Given the description of an element on the screen output the (x, y) to click on. 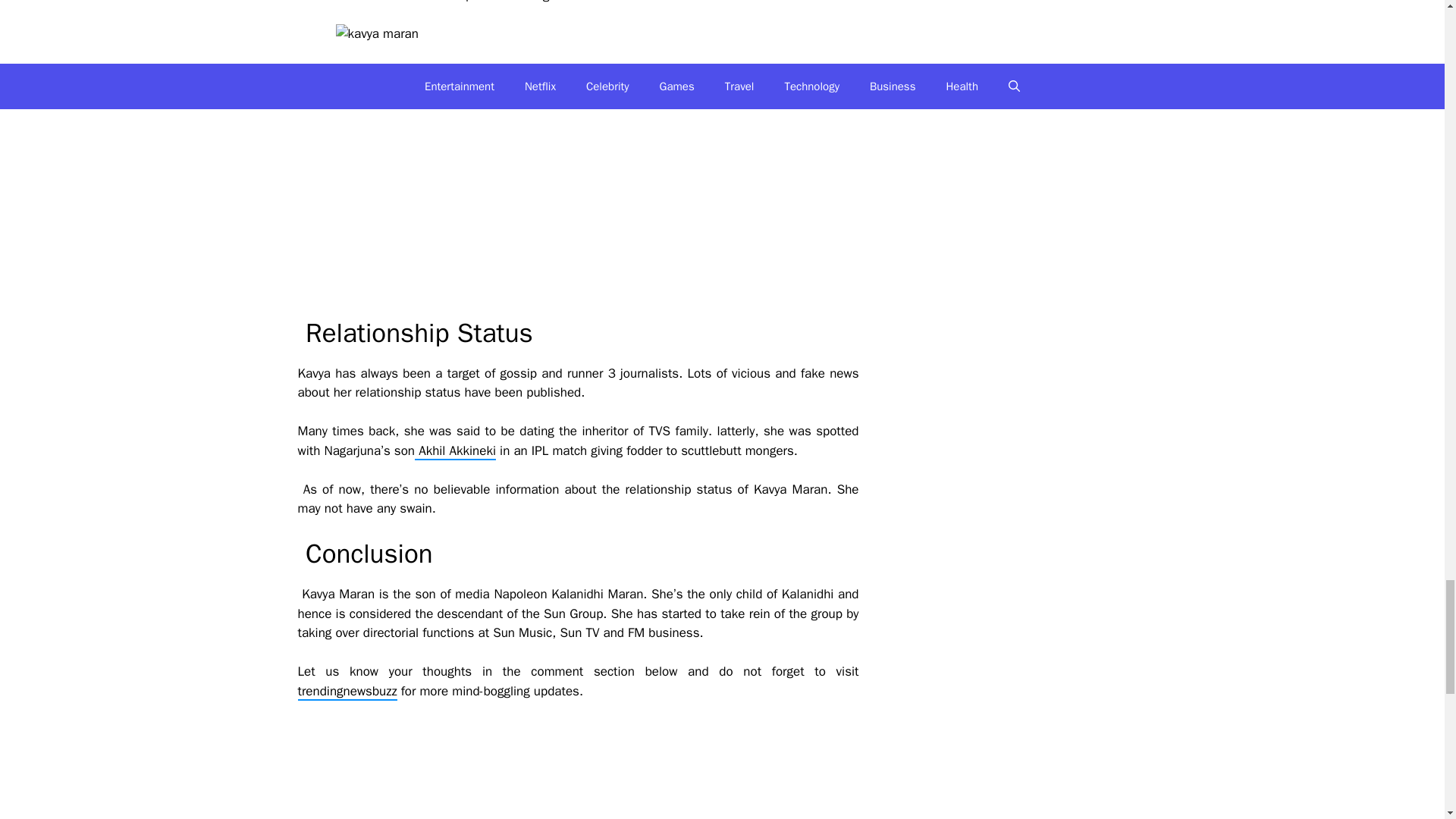
trendingnewsbuzz (346, 692)
Akhil Akkineki (455, 451)
